Given the description of an element on the screen output the (x, y) to click on. 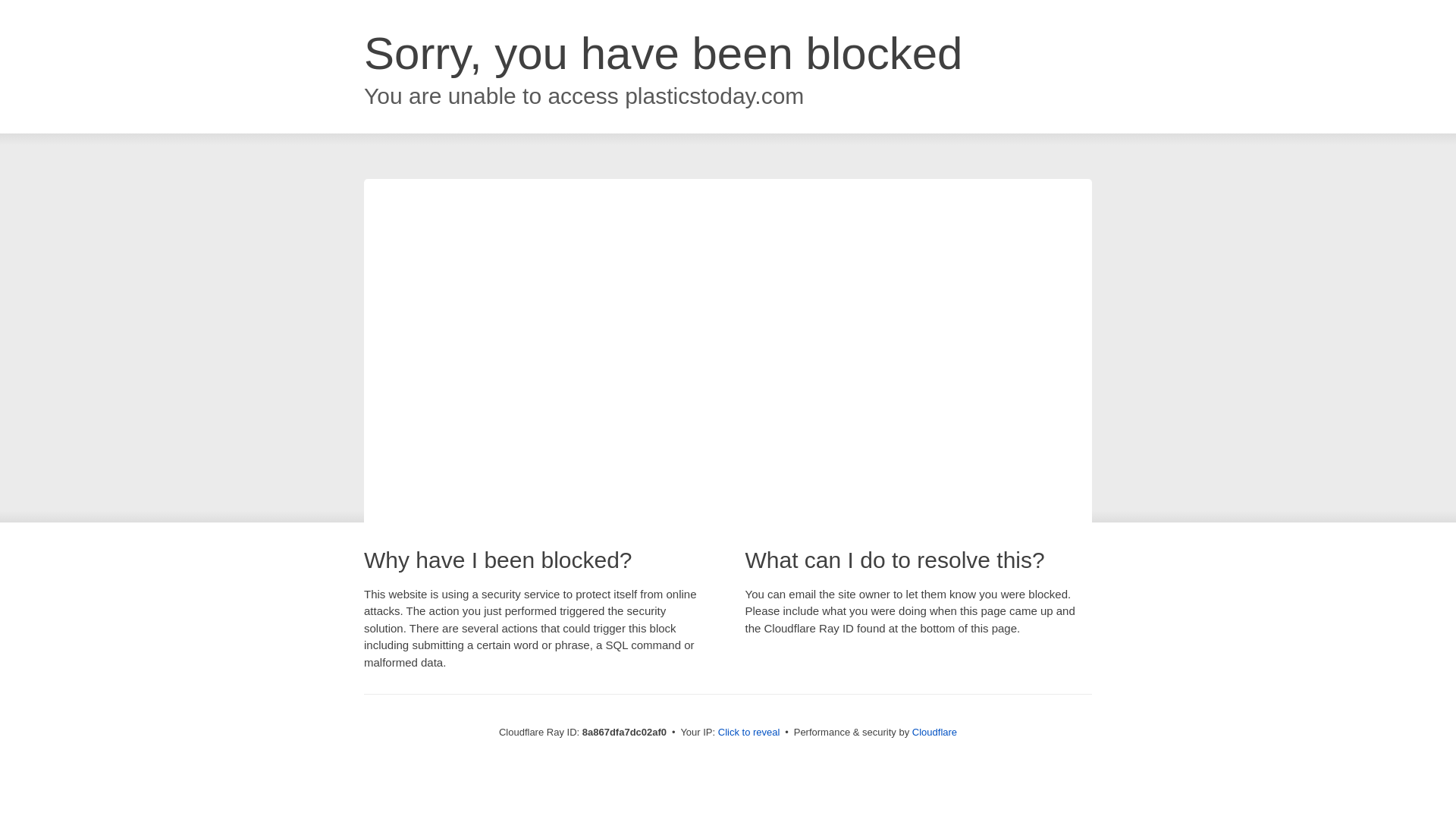
Click to reveal (748, 732)
Cloudflare (934, 731)
